Given the description of an element on the screen output the (x, y) to click on. 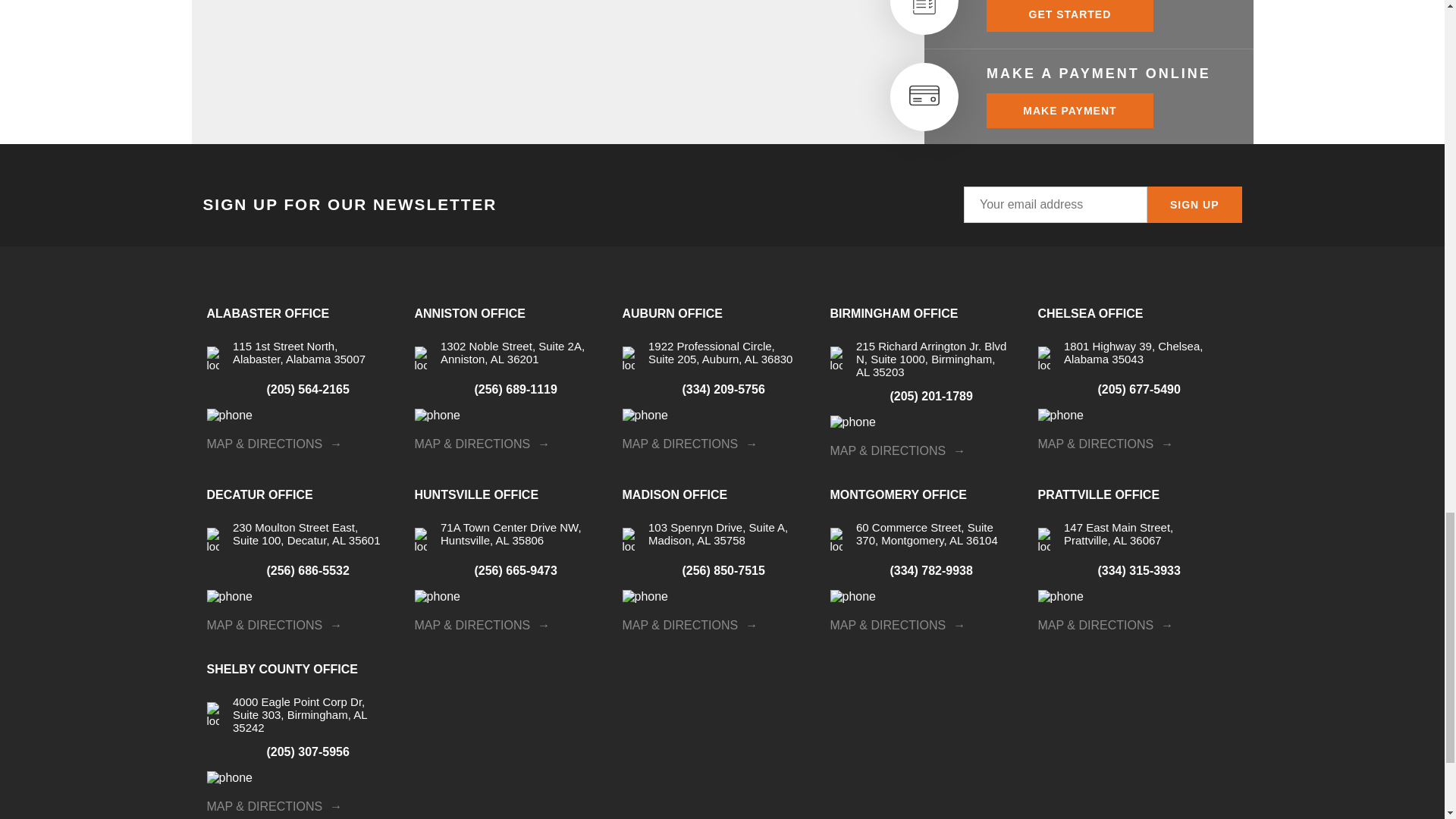
Sign up (1194, 204)
